Given the description of an element on the screen output the (x, y) to click on. 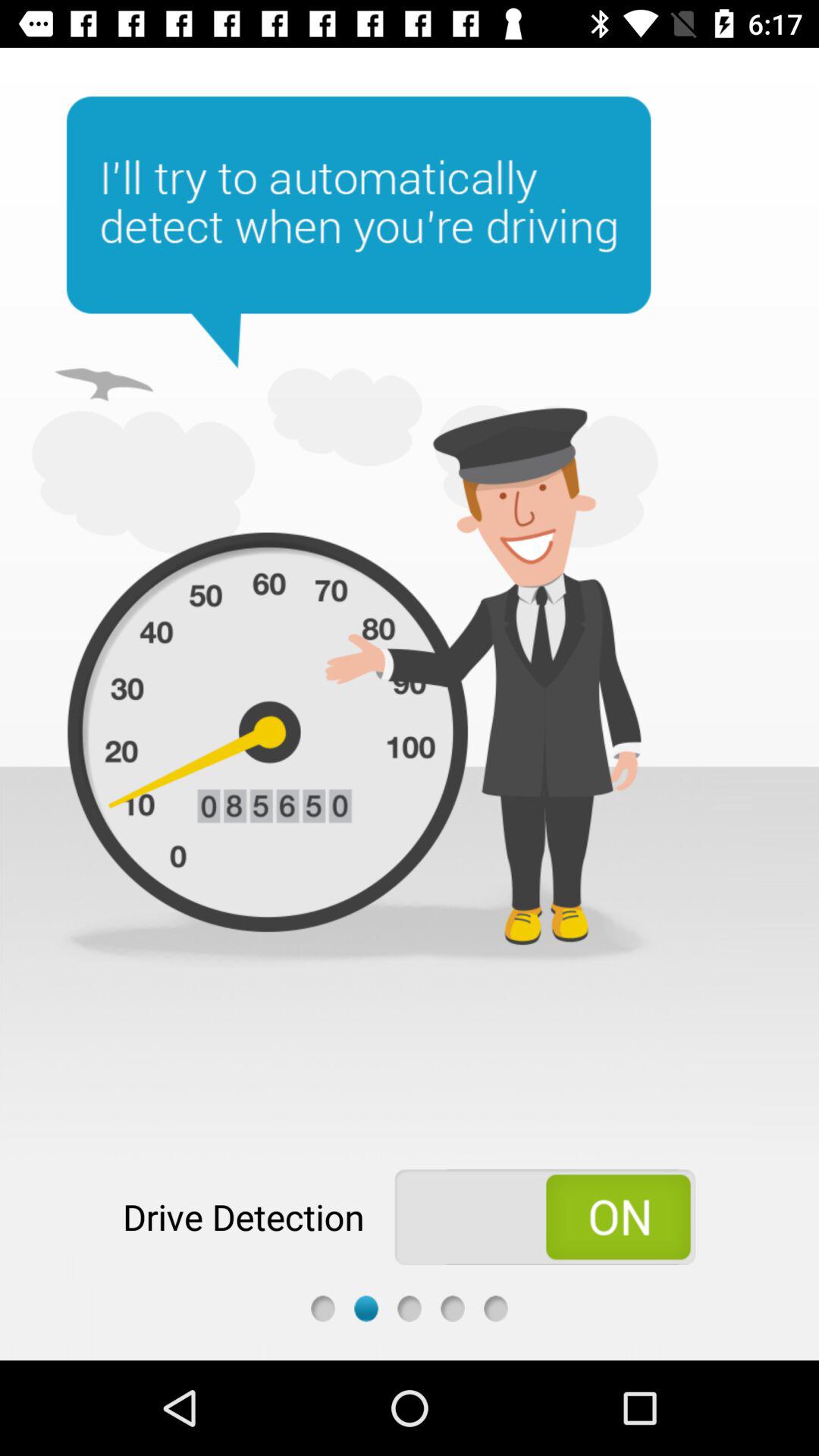
more options (495, 1308)
